Given the description of an element on the screen output the (x, y) to click on. 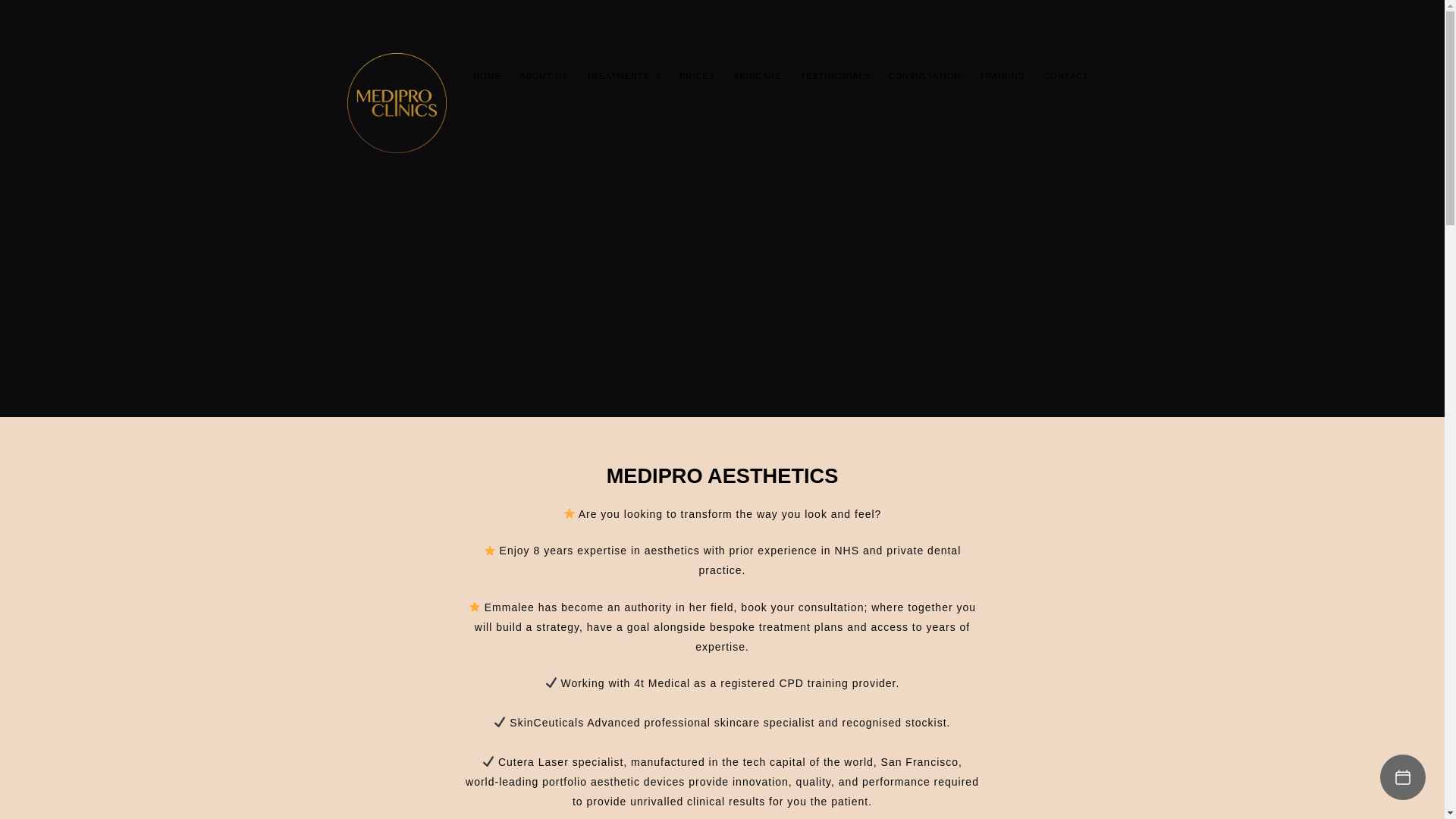
CONSULTATION (925, 75)
TRAINING (1003, 75)
SKINCARE (756, 75)
ABOUT US (543, 75)
HOME (487, 75)
TREATMENTS (622, 75)
PRICES (696, 75)
TESTIMONIALS (834, 75)
CONTACT (1065, 75)
